Given the description of an element on the screen output the (x, y) to click on. 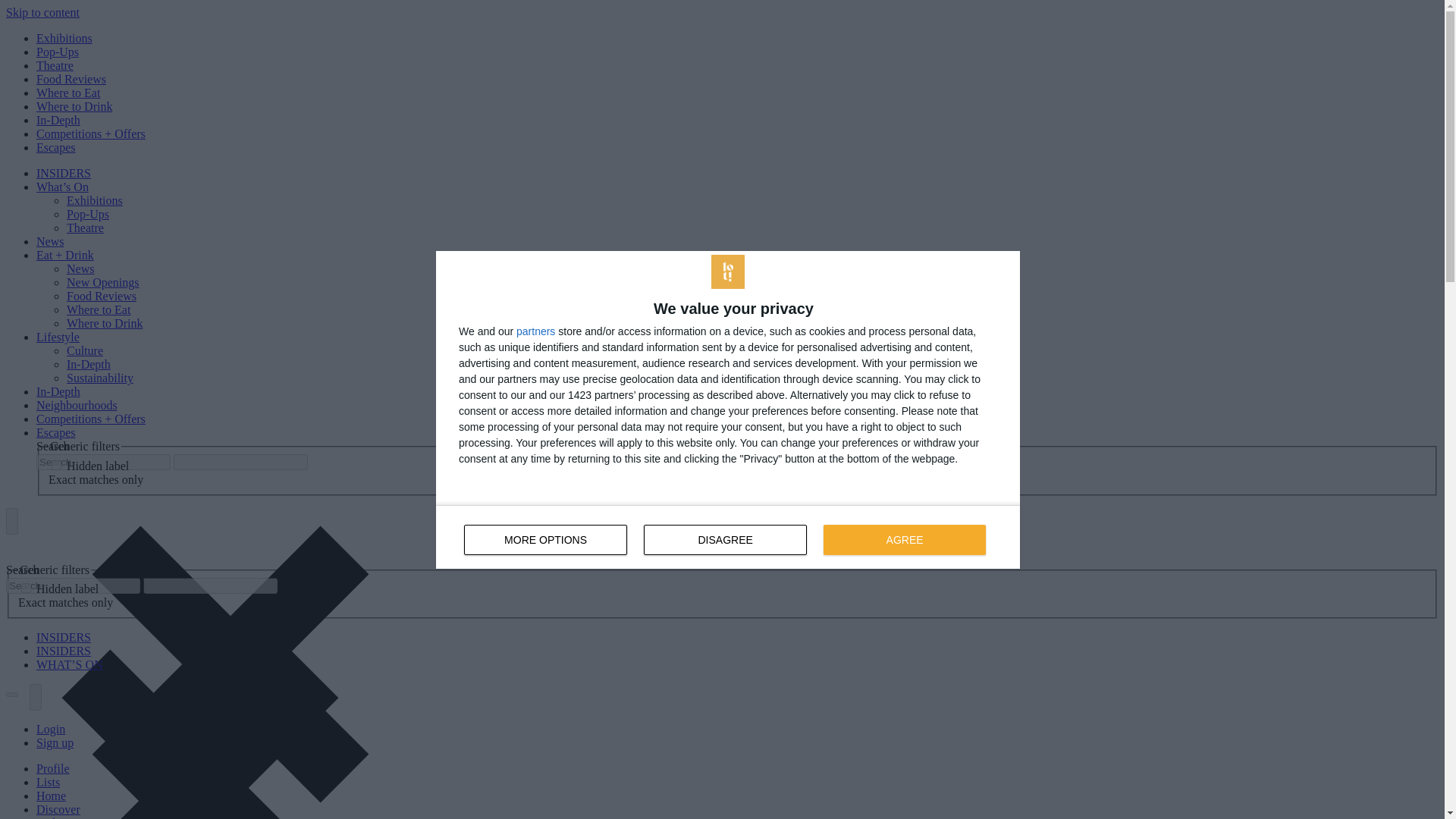
INSIDERS (63, 636)
Theatre (84, 227)
Where to Drink (74, 106)
Pop-Ups (57, 51)
New Openings (102, 282)
Sustainability (99, 377)
Escapes (55, 146)
Food Reviews (101, 295)
Food Reviews (71, 78)
Exhibitions (64, 38)
INSIDERS (727, 536)
AGREE (63, 173)
Culture (904, 539)
Pop-Ups (84, 350)
